Given the description of an element on the screen output the (x, y) to click on. 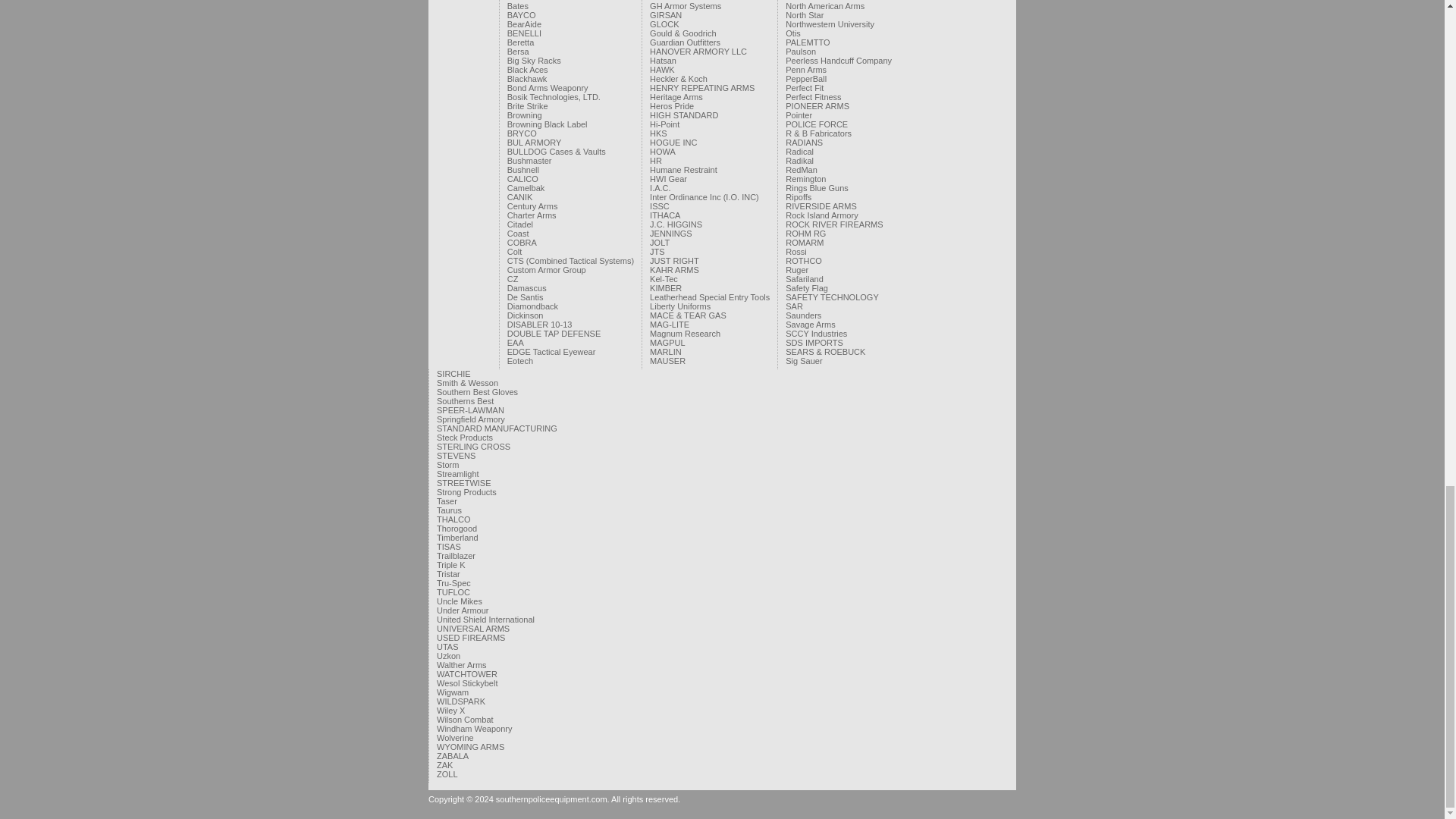
B-Cool Towel (531, 0)
Bates (517, 5)
BENELLI (523, 32)
BearAide (523, 23)
BAYCO (520, 14)
BAYCO (520, 14)
B-Cool Towel (531, 0)
BearAide (523, 23)
Beretta (520, 41)
Bates (517, 5)
BENELLI (523, 32)
